Given the description of an element on the screen output the (x, y) to click on. 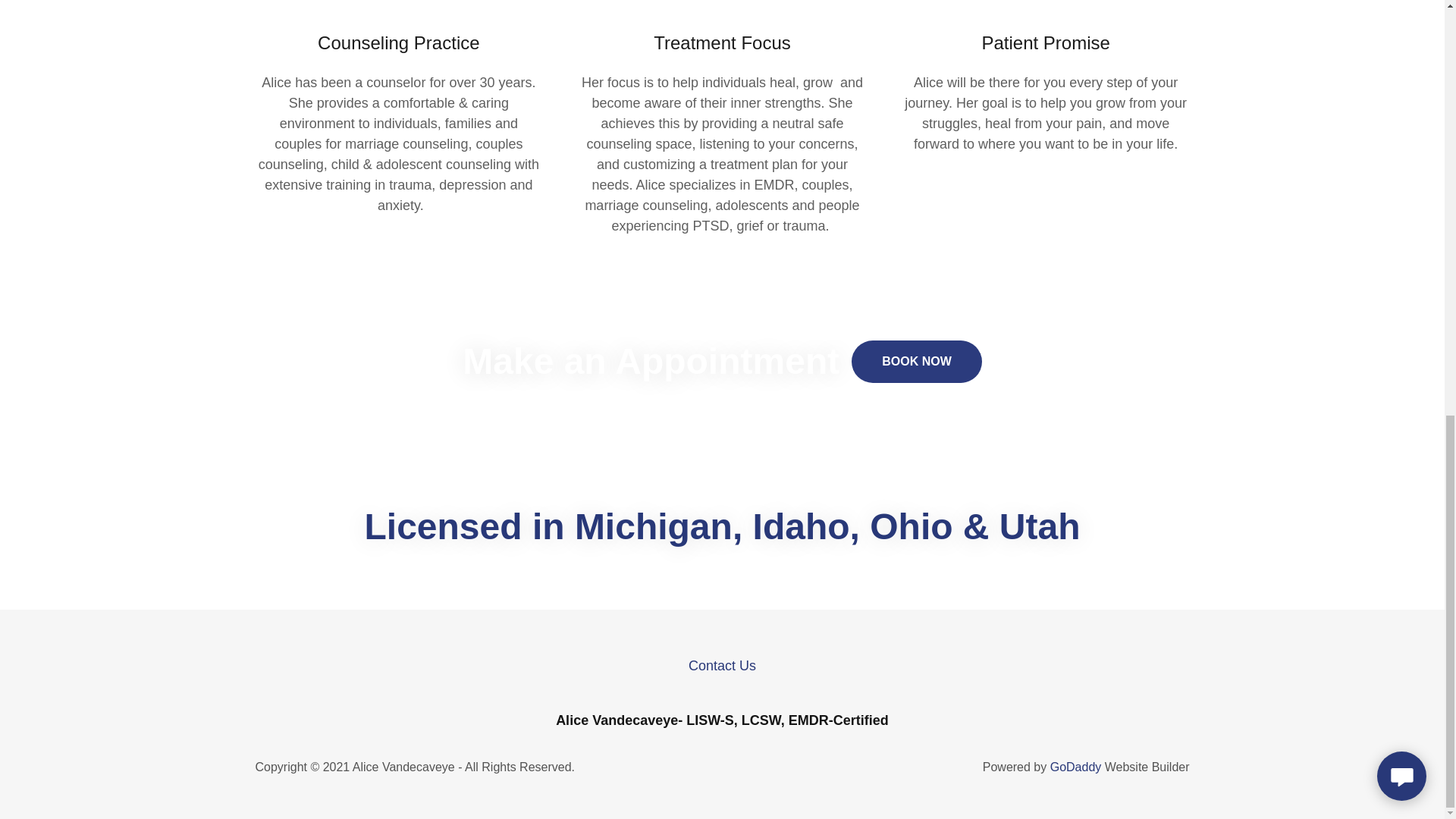
BOOK NOW (916, 361)
GoDaddy (1075, 766)
Contact Us (721, 665)
